Given the description of an element on the screen output the (x, y) to click on. 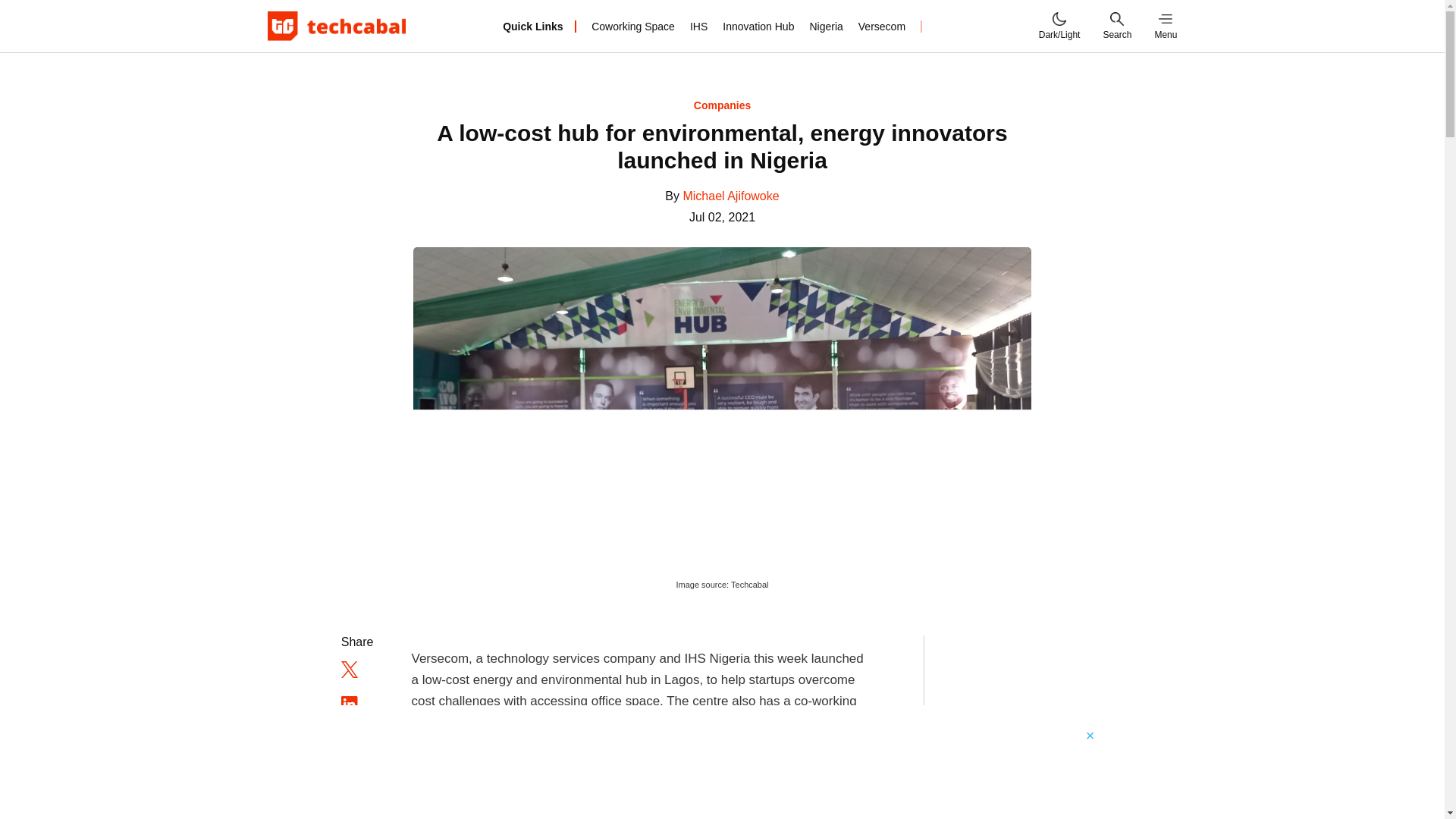
Versecom (882, 25)
Search (1116, 26)
Coworking Space (633, 25)
IHS (698, 25)
Nigeria (826, 25)
Innovation Hub (757, 25)
Posts by Michael Ajifowoke (730, 195)
